Given the description of an element on the screen output the (x, y) to click on. 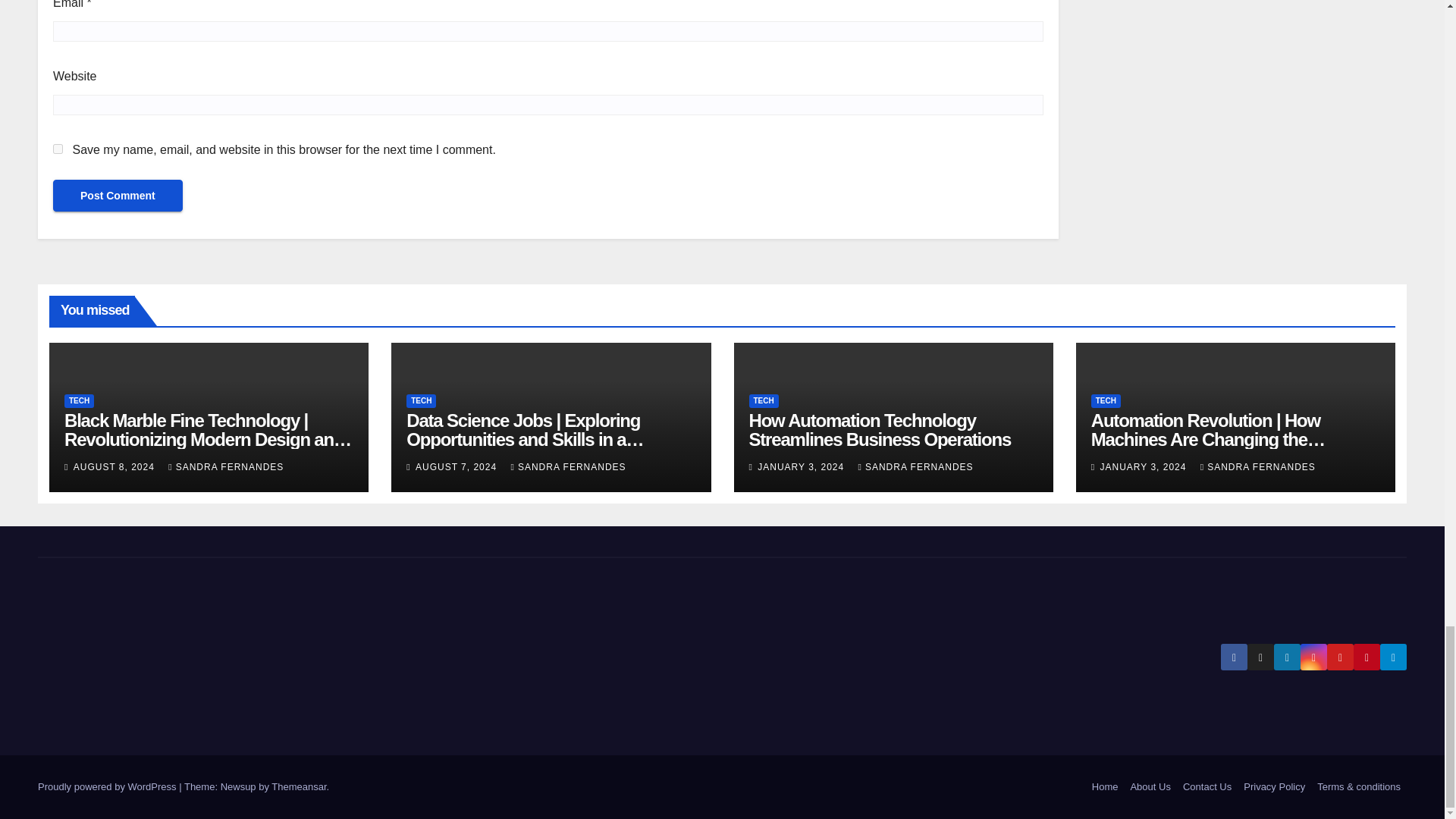
Home (1105, 786)
yes (57, 148)
Post Comment (117, 195)
